Given the description of an element on the screen output the (x, y) to click on. 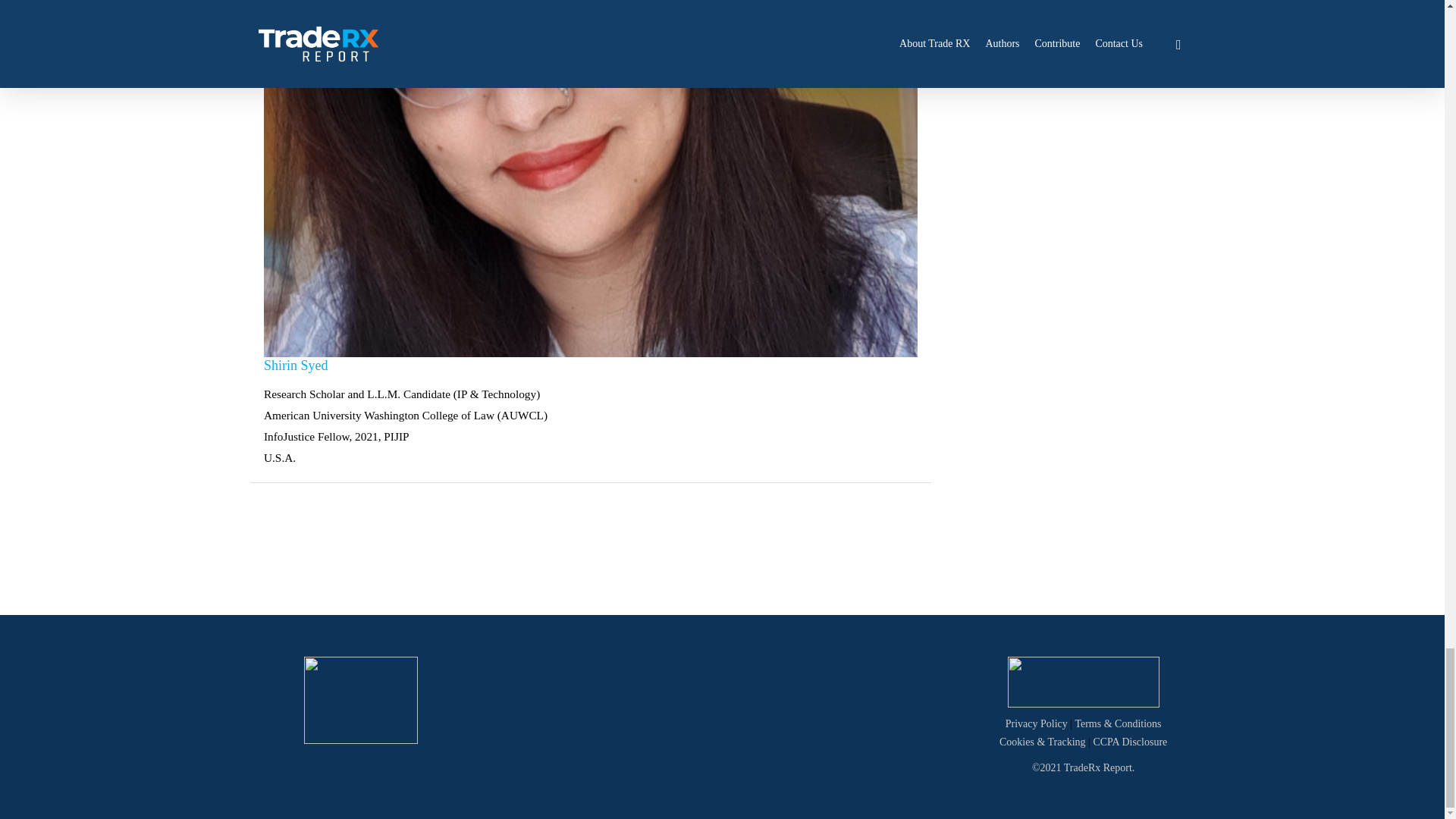
Shirin Syed (296, 364)
